Given the description of an element on the screen output the (x, y) to click on. 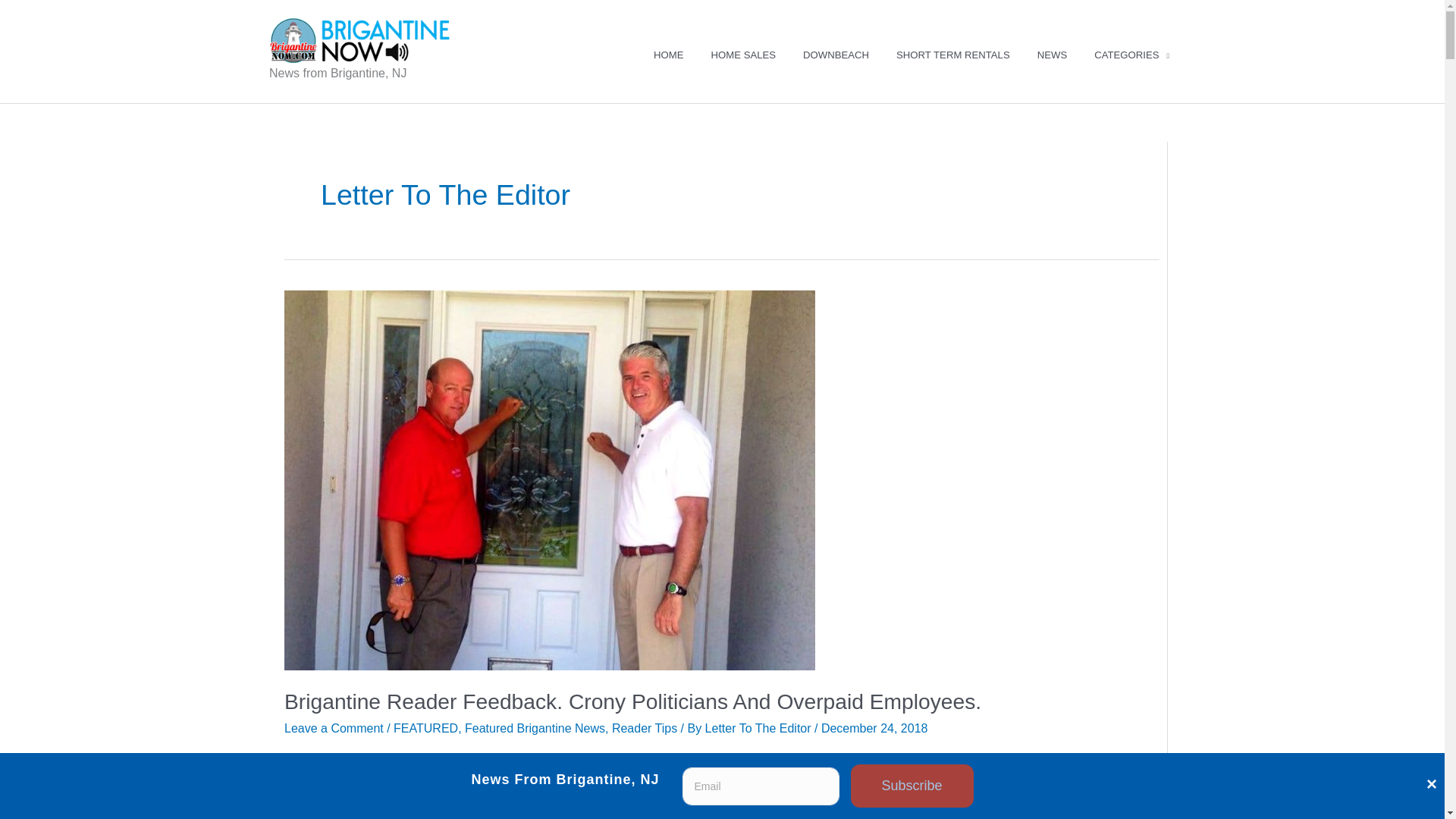
Letter To The Editor (758, 727)
DOWNBEACH (835, 54)
View all posts by Letter To The Editor (758, 727)
CATEGORIES (1131, 54)
Leave a Comment (333, 727)
HOME (668, 54)
HOME SALES (743, 54)
Featured Brigantine News (534, 727)
Reader Tips (644, 727)
SHORT TERM RENTALS (952, 54)
NEWS (1051, 54)
FEATURED (425, 727)
